Given the description of an element on the screen output the (x, y) to click on. 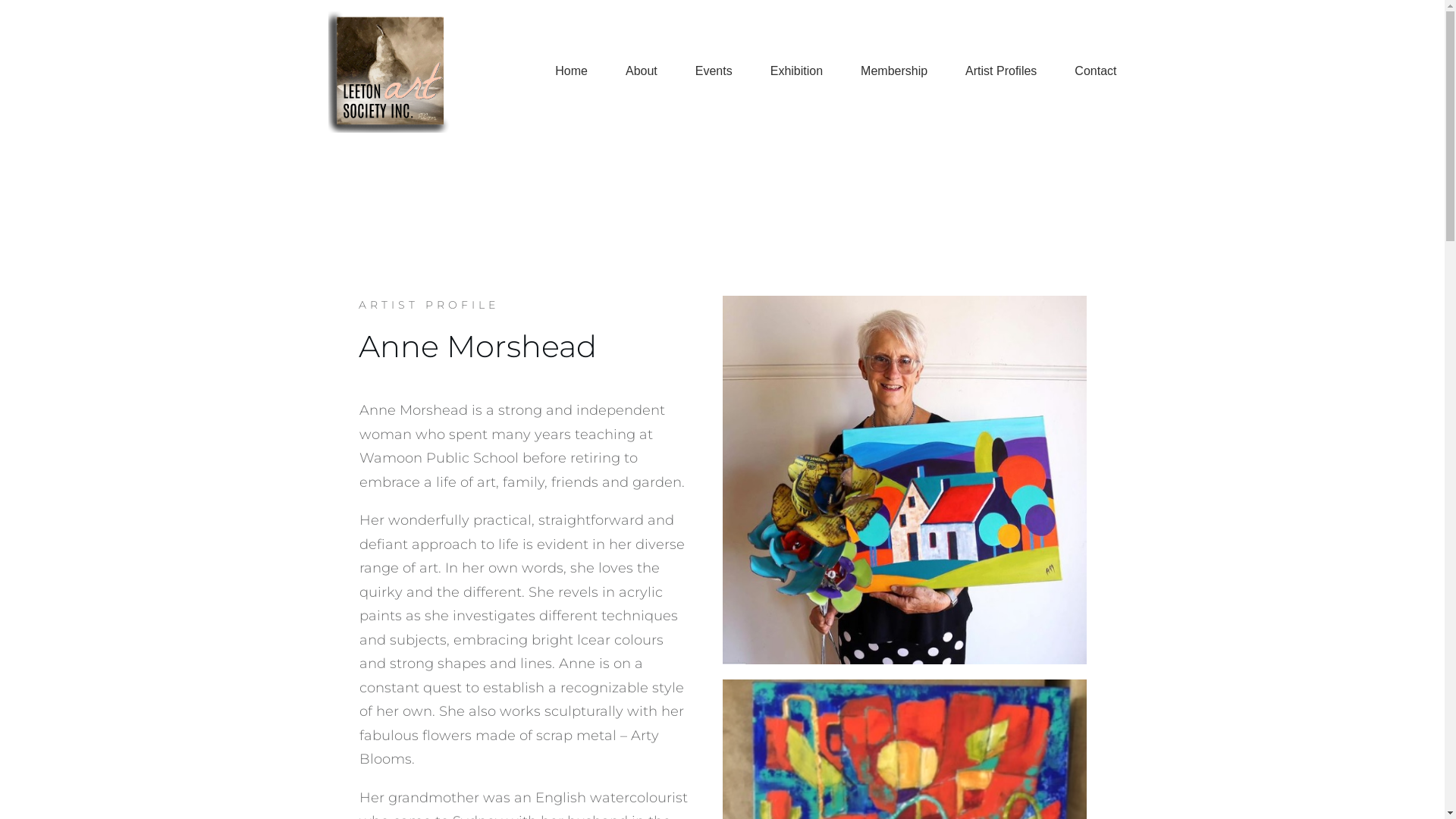
Contact Element type: text (1095, 71)
Events Element type: text (713, 71)
Artist Profiles Element type: text (1000, 71)
Ann M portrait Element type: hover (903, 480)
Home Element type: text (571, 71)
Exhibition Element type: text (796, 71)
Membership Element type: text (893, 71)
About Element type: text (641, 71)
